Given the description of an element on the screen output the (x, y) to click on. 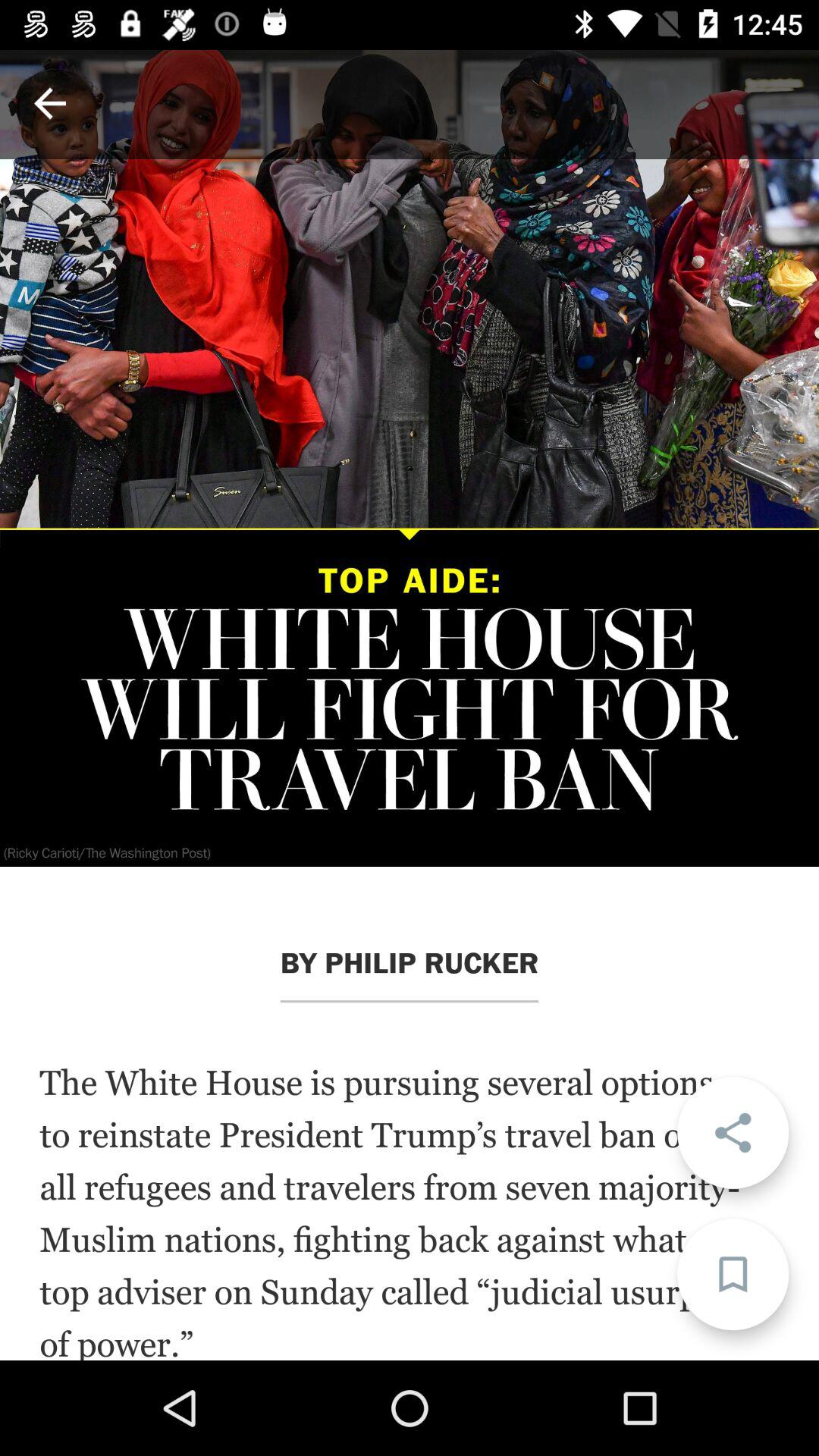
go back to previous page (49, 103)
